Given the description of an element on the screen output the (x, y) to click on. 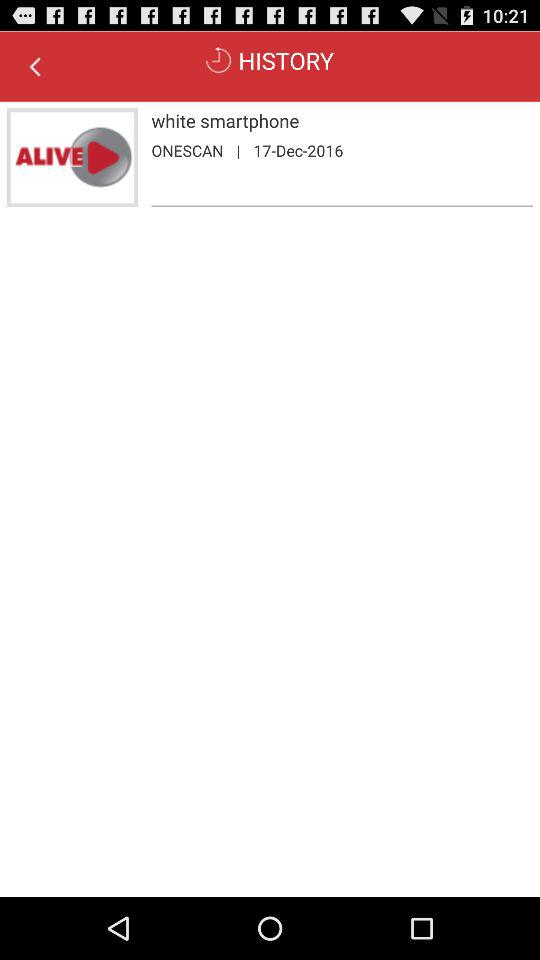
turn off item next to 17-dec-2016 (238, 150)
